Given the description of an element on the screen output the (x, y) to click on. 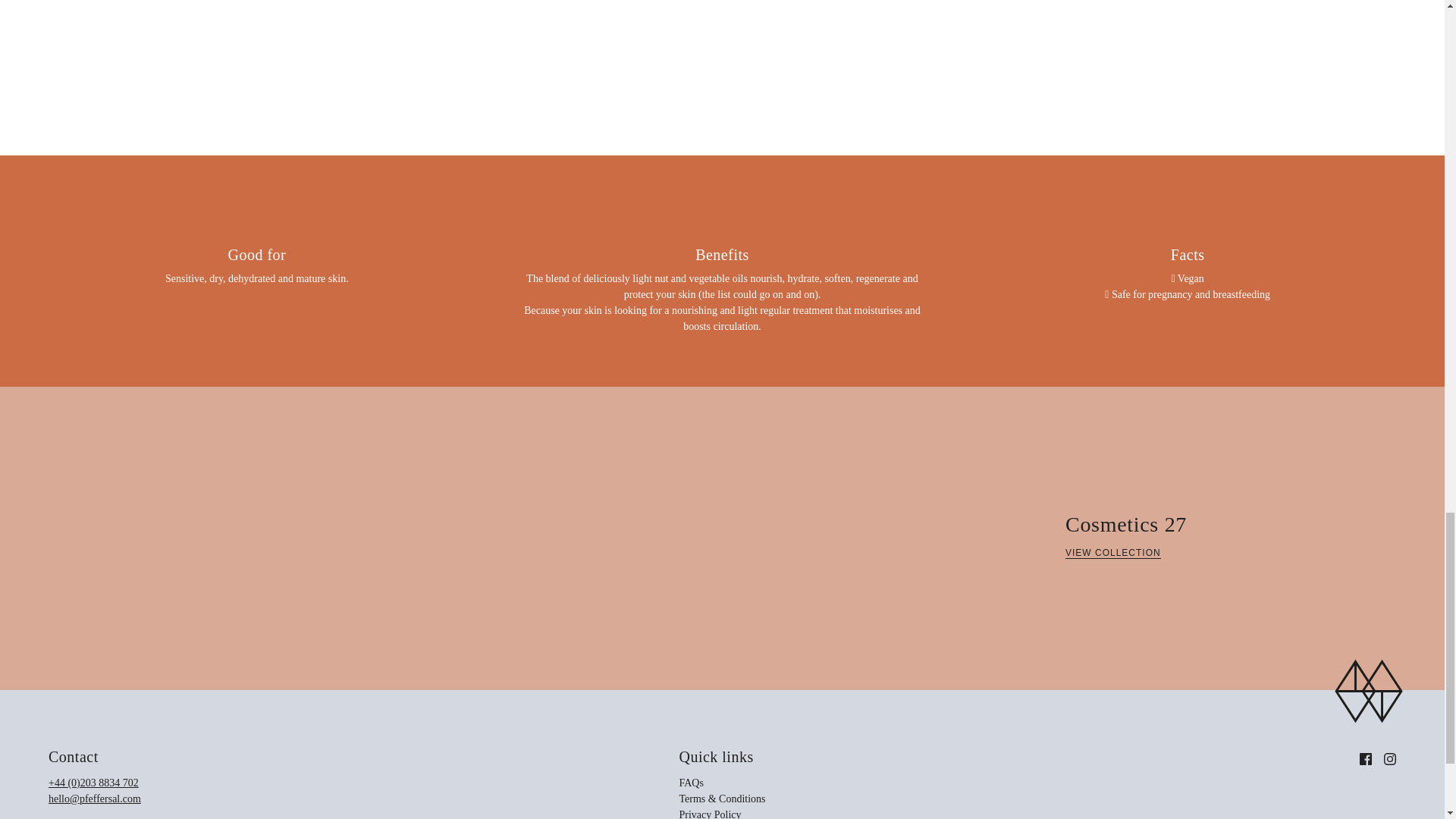
Privacy Policy (709, 814)
FAQs (709, 814)
FAQs (690, 782)
